Given the description of an element on the screen output the (x, y) to click on. 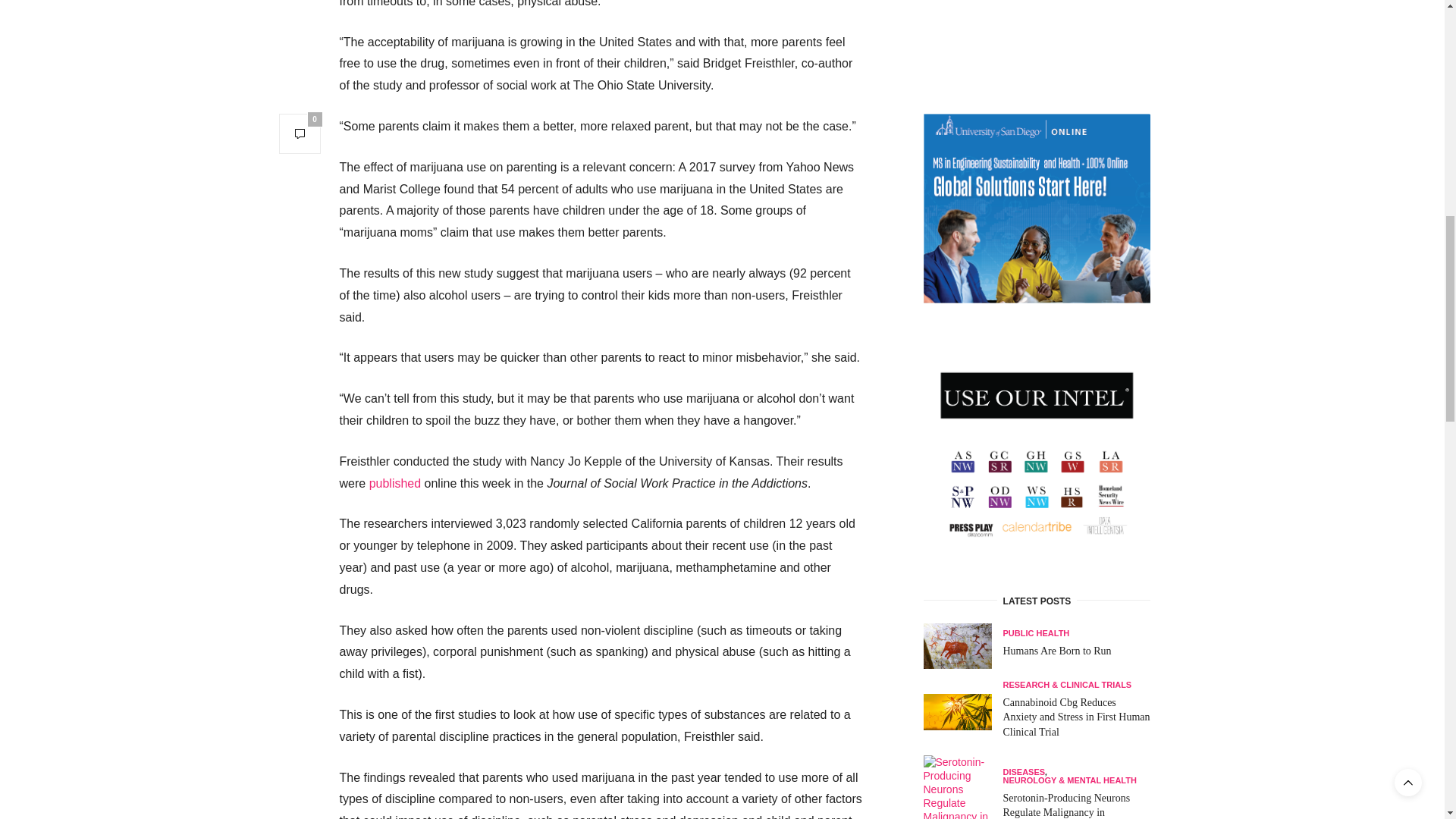
Medicaid Enrollees Struggle to Find Psychiatric Care (1069, 160)
published (395, 482)
Medicaid Enrollees Struggle to Find Psychiatric Care (963, 154)
